Given the description of an element on the screen output the (x, y) to click on. 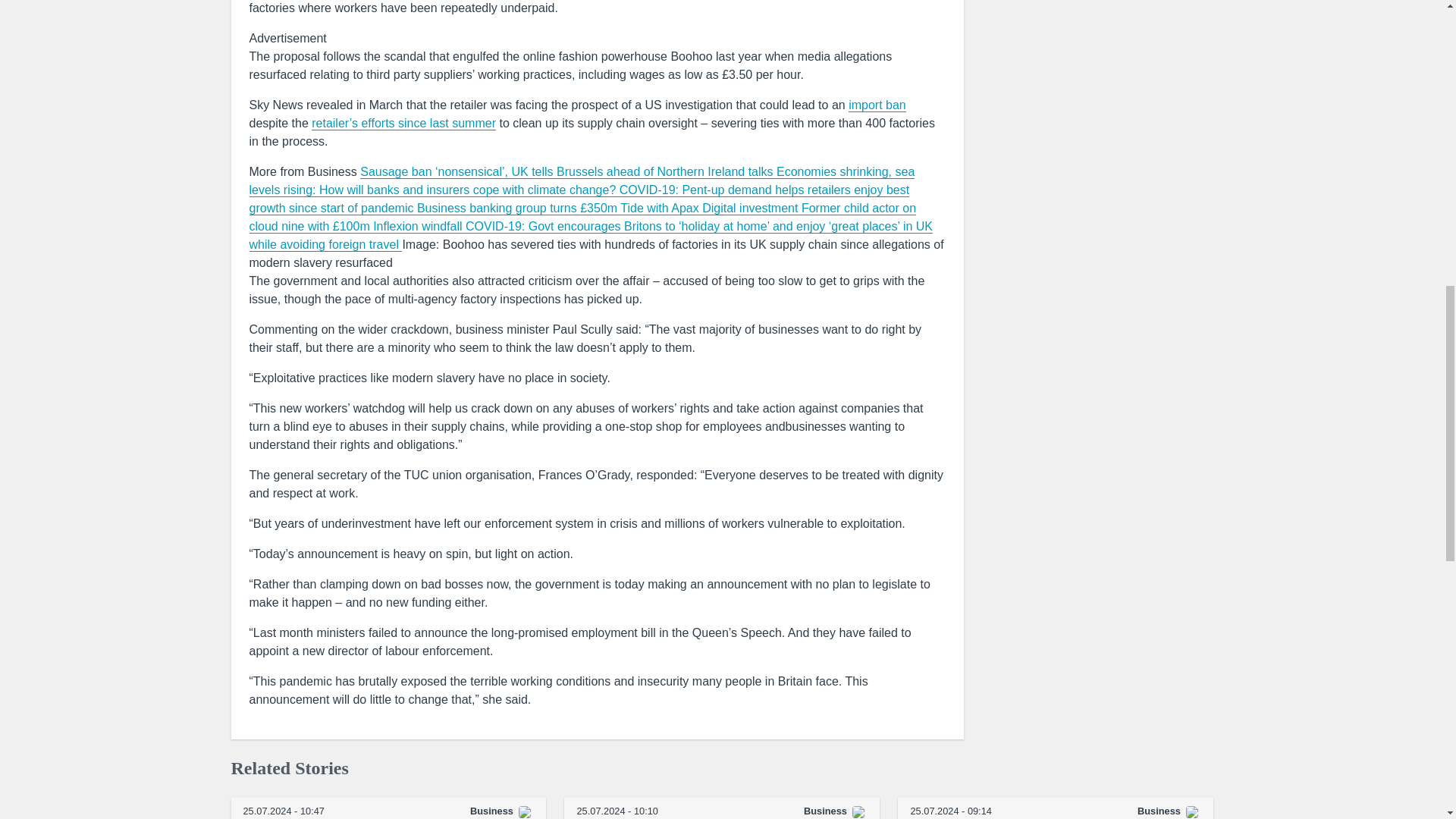
import ban (876, 105)
